Given the description of an element on the screen output the (x, y) to click on. 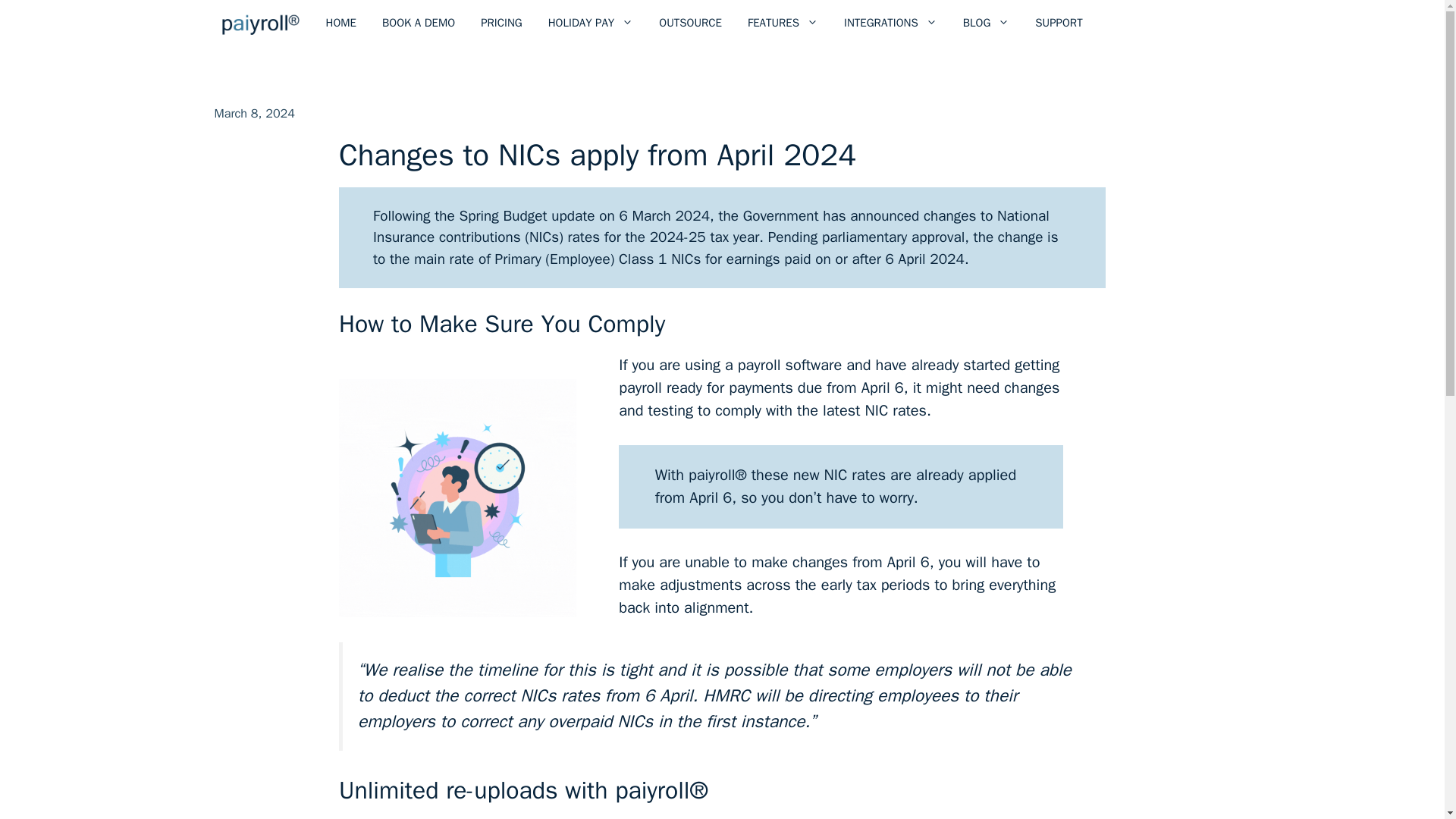
paiyroll (259, 22)
